Given the description of an element on the screen output the (x, y) to click on. 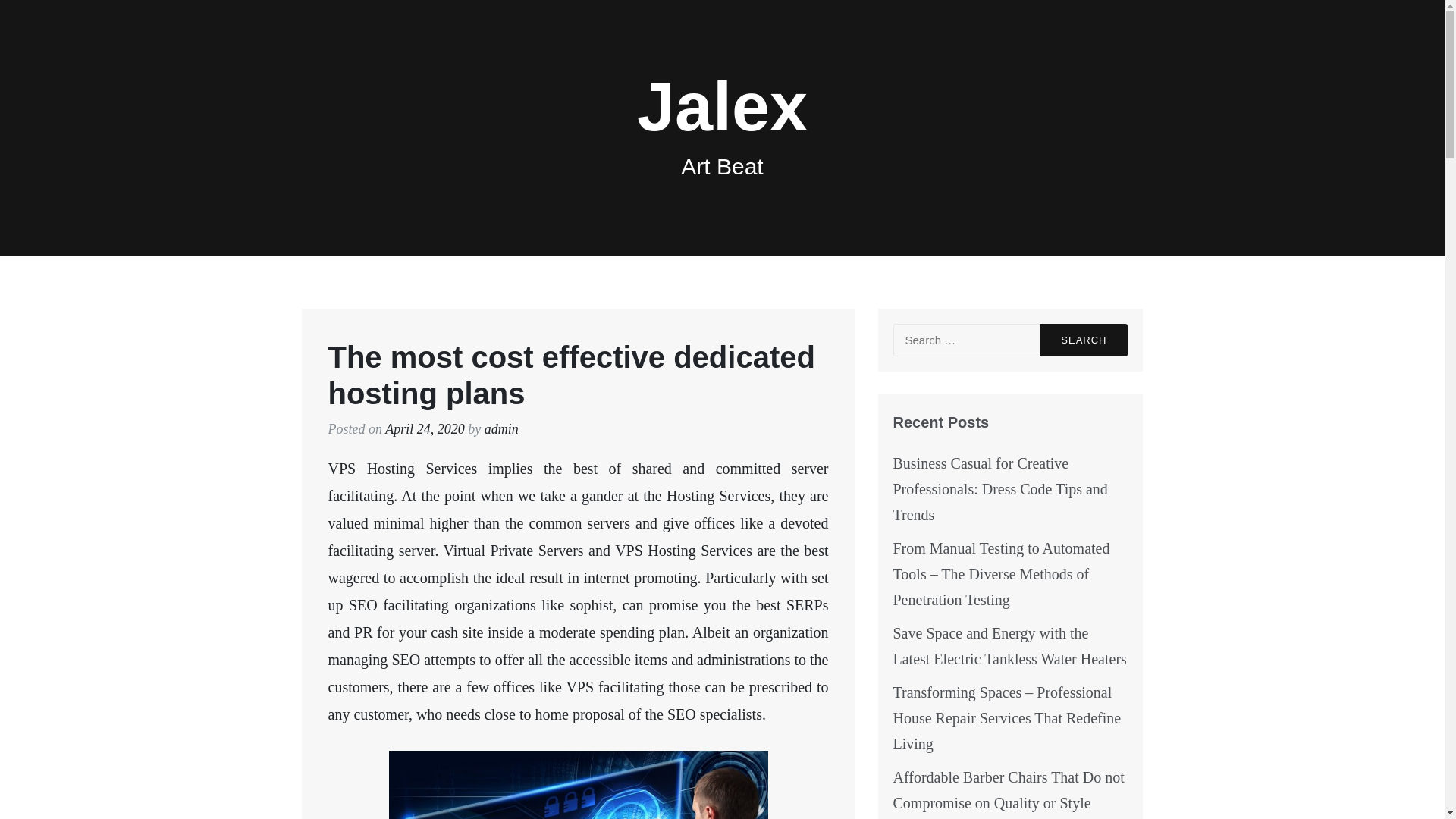
admin (501, 428)
Search (1082, 339)
Search (1082, 339)
Jalex (722, 106)
April 24, 2020 (424, 428)
Search (1082, 339)
